Given the description of an element on the screen output the (x, y) to click on. 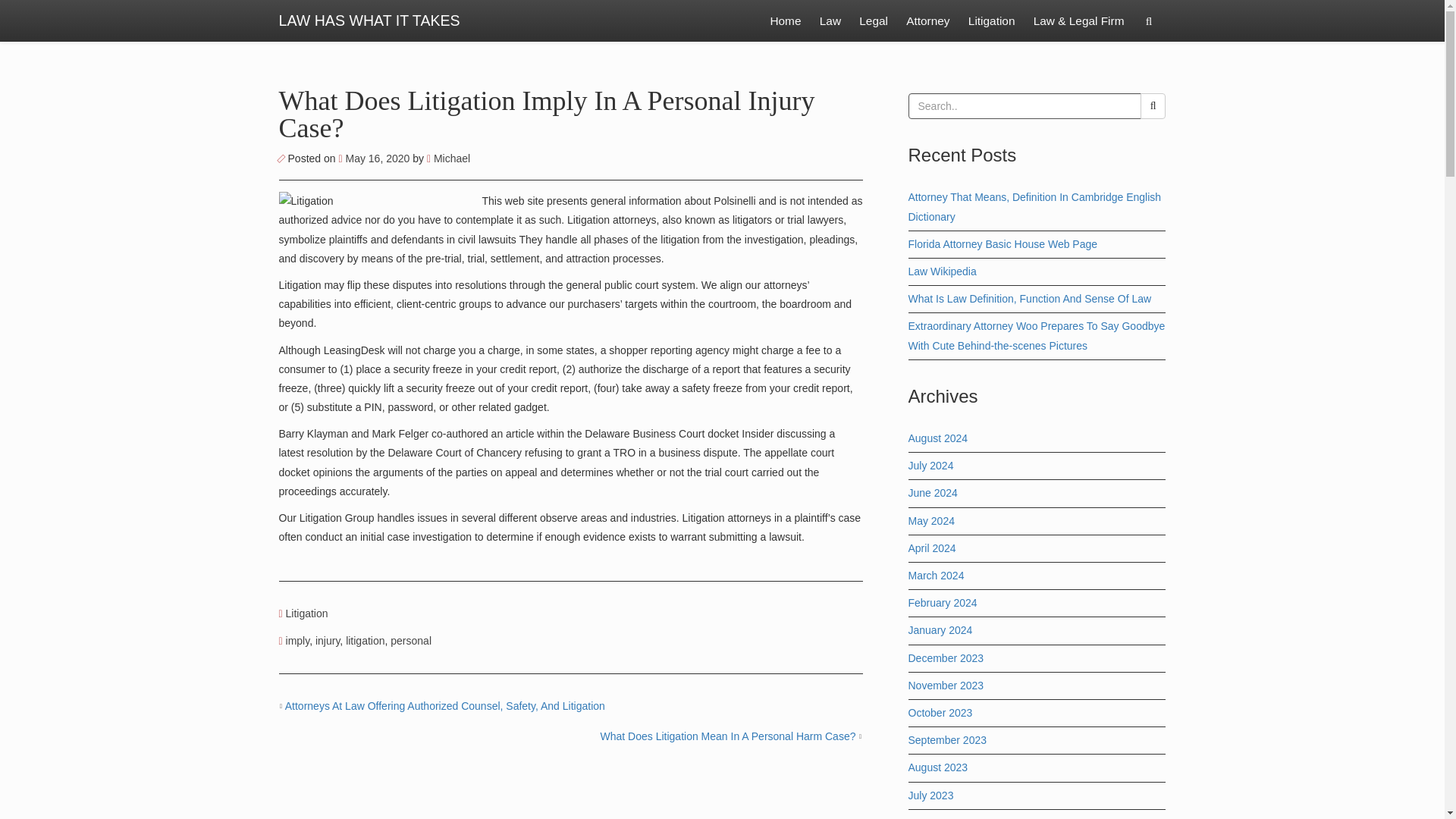
May 2024 (931, 521)
Florida Attorney Basic House Web Page (1002, 244)
April 2024 (932, 548)
Attorney (927, 20)
March 2024 (935, 575)
Law Wikipedia (942, 271)
January 2024 (940, 630)
February 2024 (942, 603)
imply (297, 640)
